Given the description of an element on the screen output the (x, y) to click on. 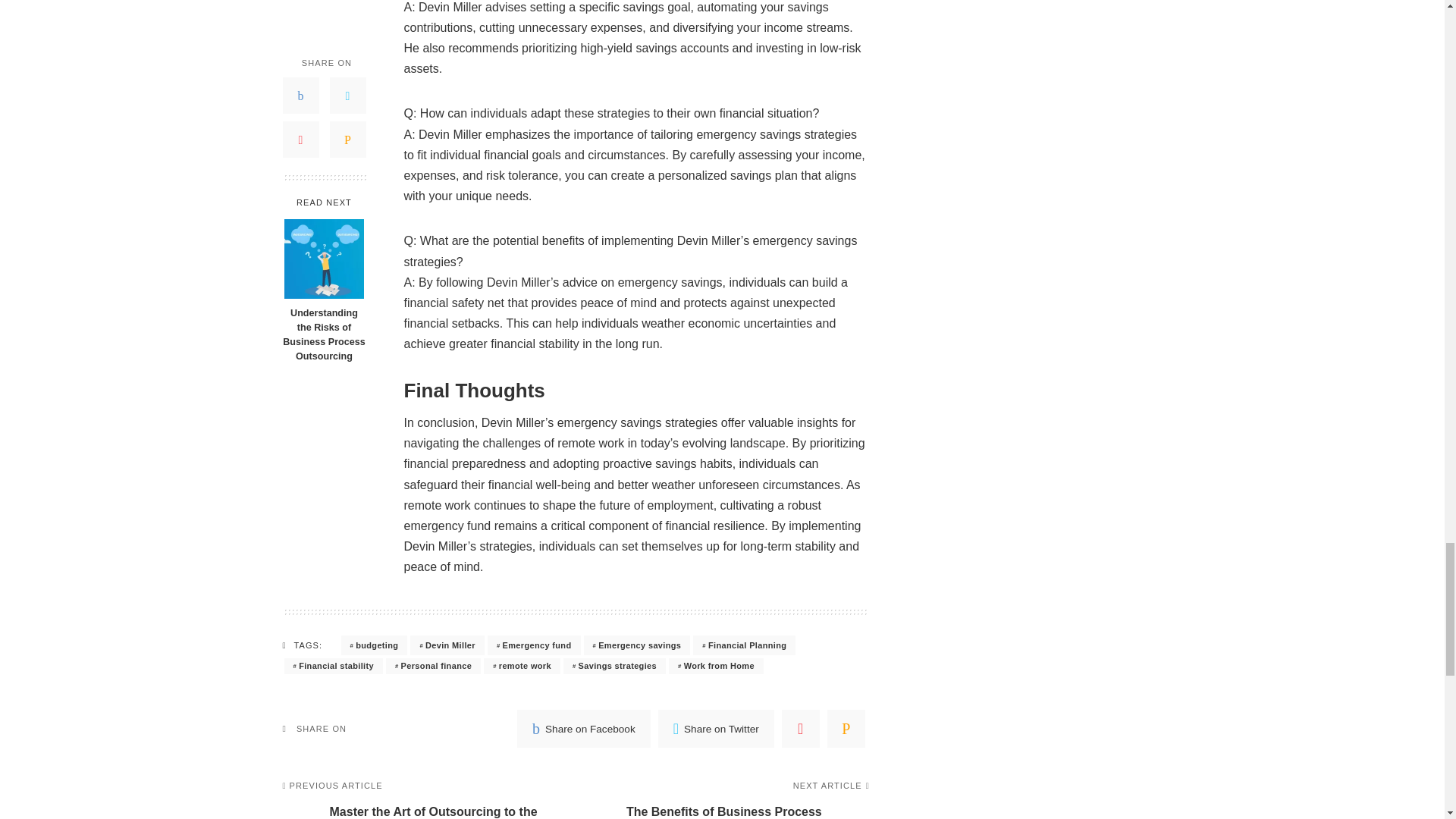
Financial stability (332, 666)
Financial Planning (743, 645)
Personal finance (432, 666)
Devin Miller (447, 645)
Savings strategies (614, 666)
budgeting (373, 645)
Devin Miller (447, 645)
Emergency fund (533, 645)
Emergency savings (636, 645)
remote work (521, 666)
